Given the description of an element on the screen output the (x, y) to click on. 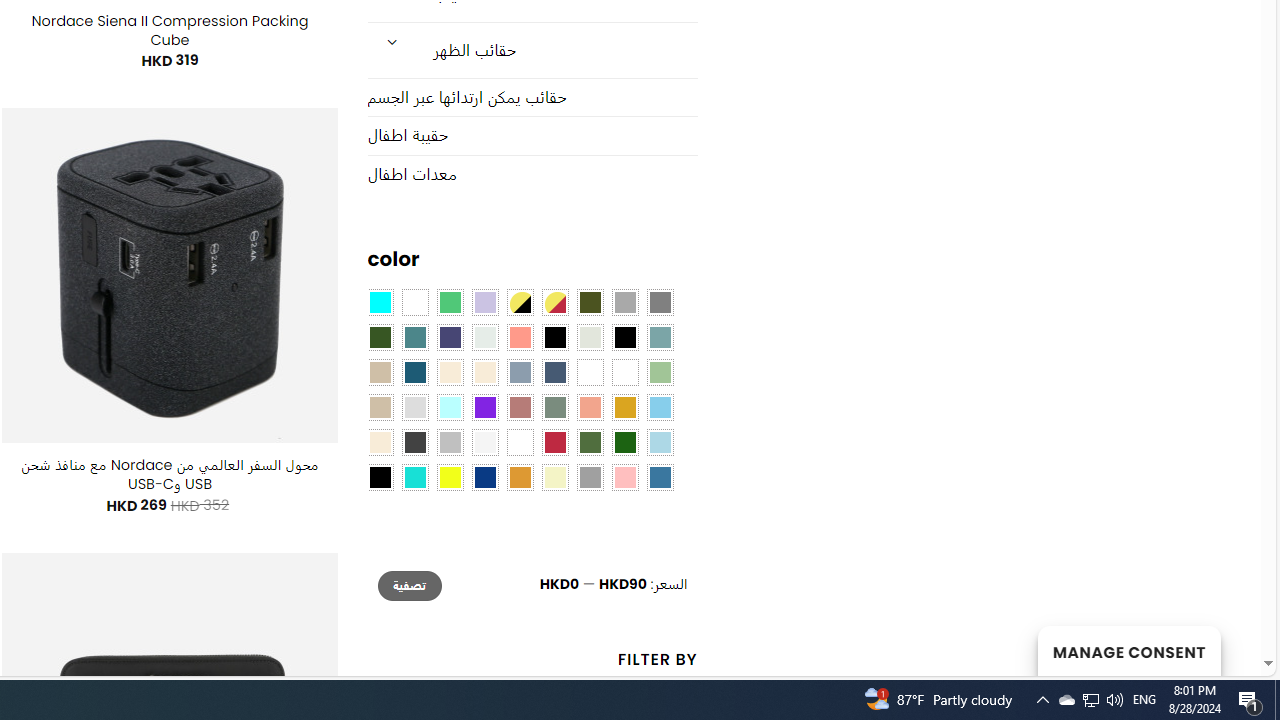
All Black (554, 337)
Mint (449, 408)
Teal (414, 337)
Light Green (659, 372)
Capri Blue (414, 372)
